Given the description of an element on the screen output the (x, y) to click on. 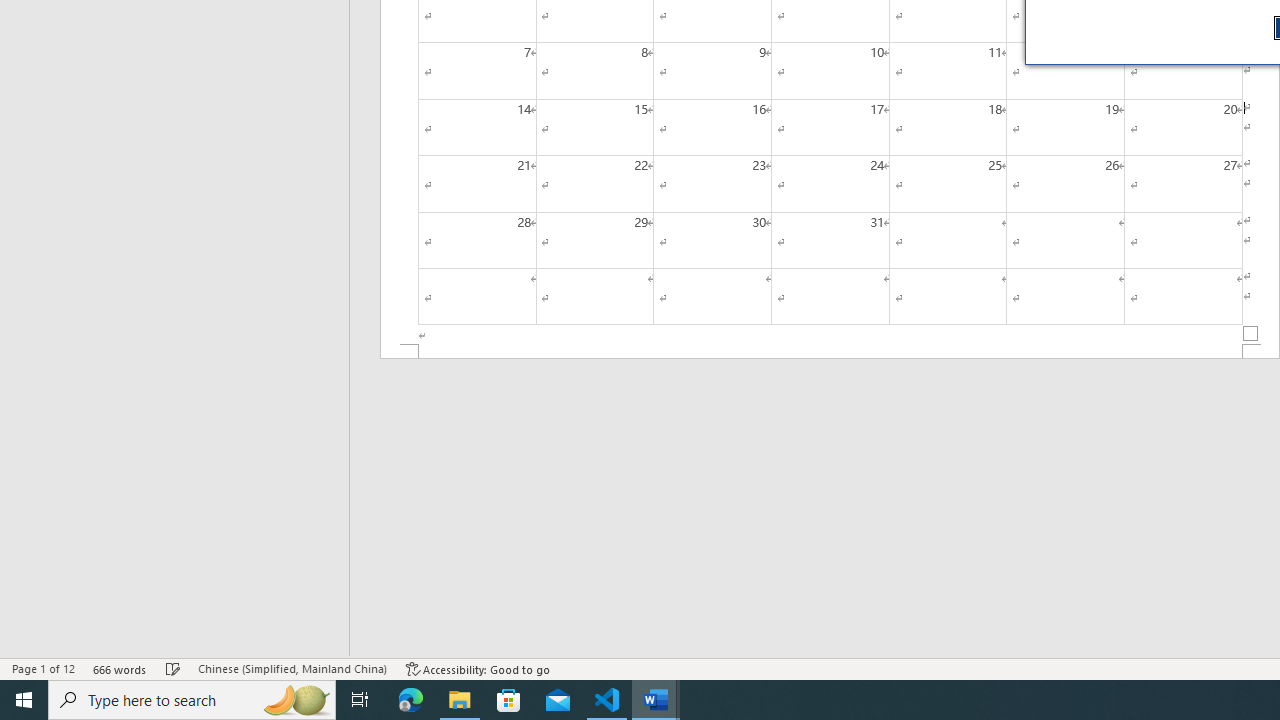
Type here to search (191, 699)
